Given the description of an element on the screen output the (x, y) to click on. 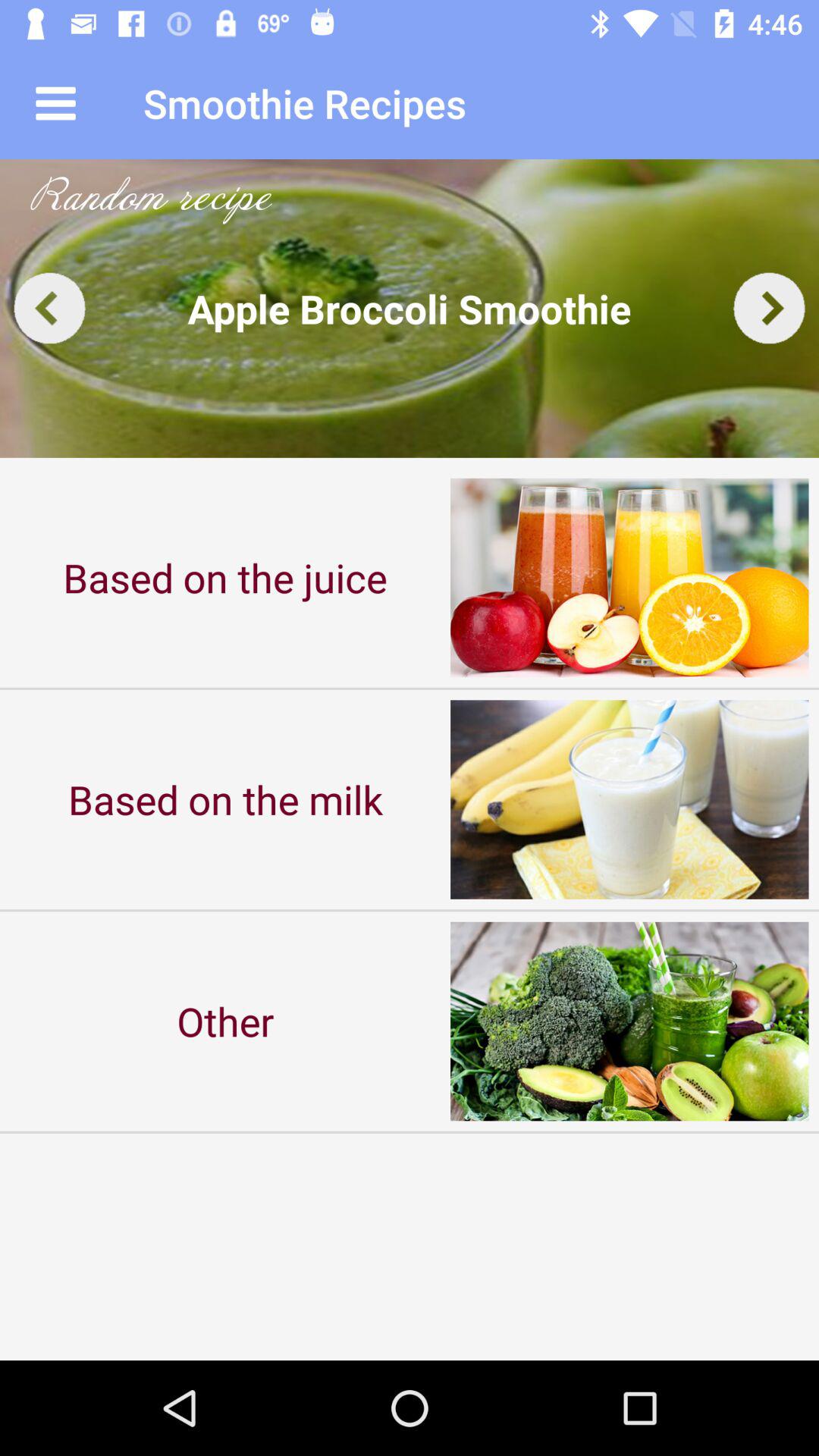
turn on other item (225, 1020)
